Given the description of an element on the screen output the (x, y) to click on. 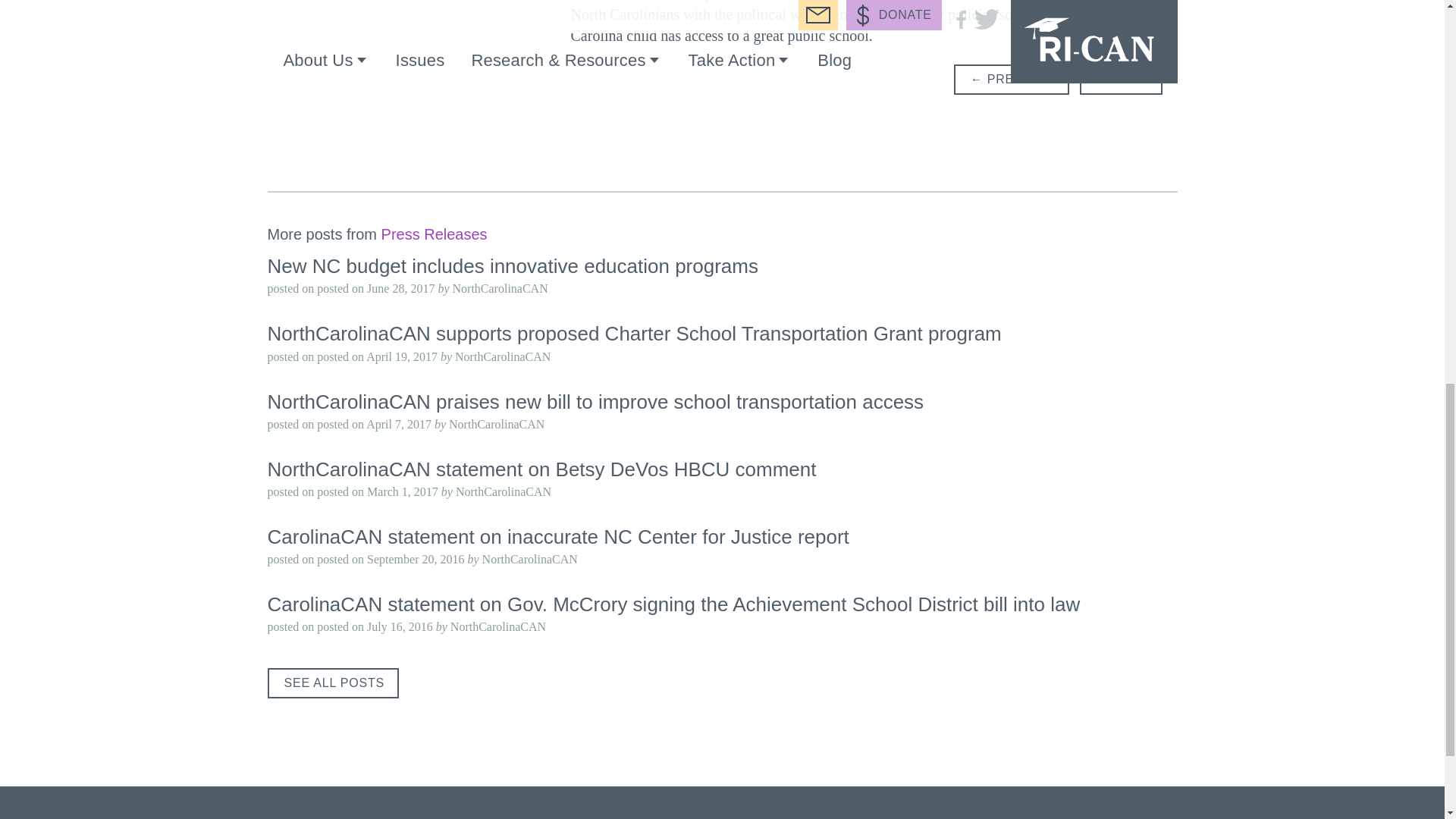
Terms of Use (411, 818)
Donate (516, 818)
NorthCarolinaCAN statement on Betsy DeVos HBCU comment (540, 468)
SEE ALL POSTS (332, 683)
New NC budget includes innovative education programs (511, 265)
Privacy (308, 818)
Press Releases (434, 235)
